Given the description of an element on the screen output the (x, y) to click on. 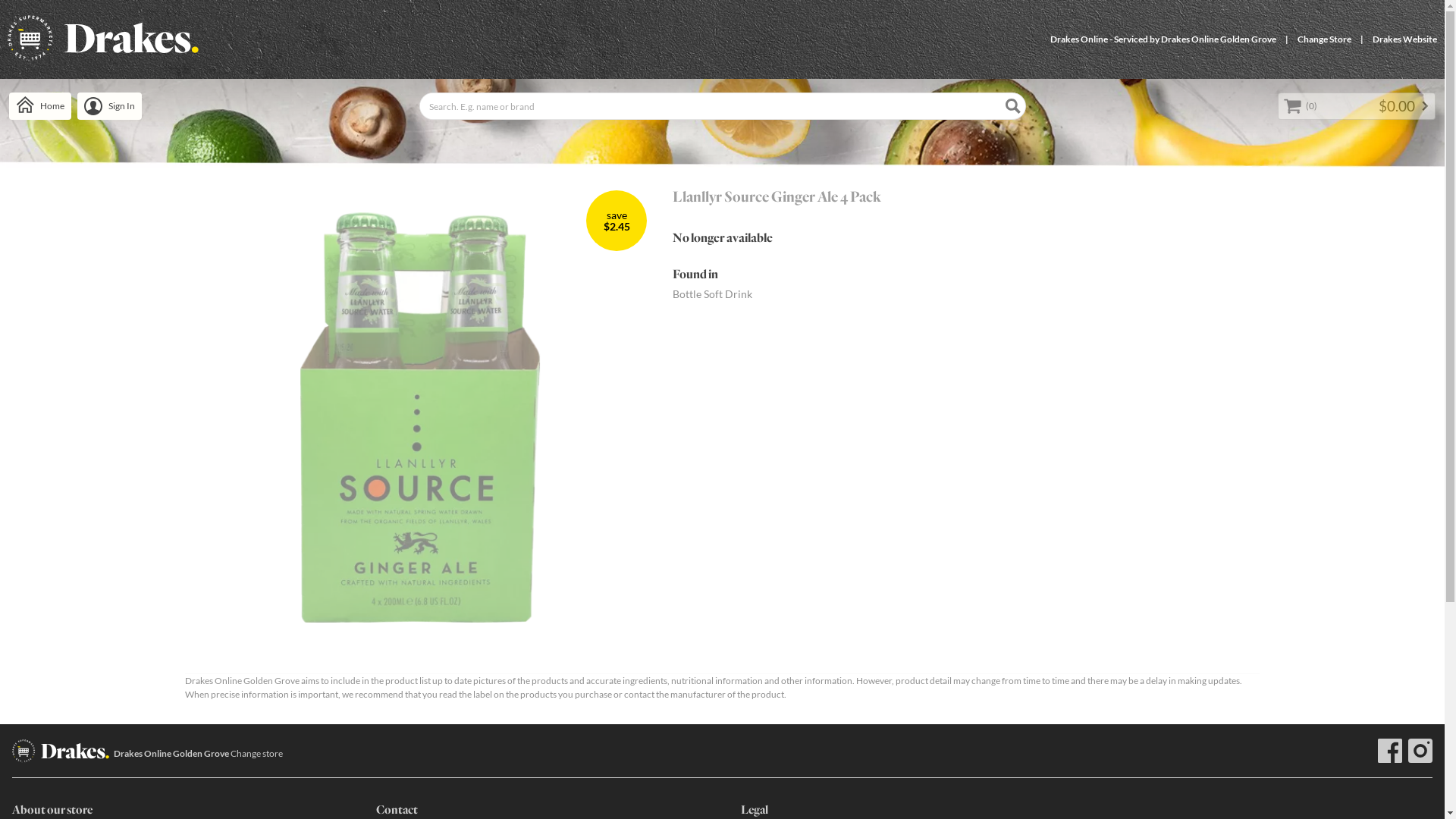
Bottle Soft Drink Element type: text (712, 293)
Drakes Website Element type: text (1404, 38)
Drakes Online Golden Grove Change store Element type: text (198, 753)
Instagram @drakessupermarkets Element type: hover (1420, 750)
Search Element type: hover (1013, 106)
(0)
$0.00 Element type: text (1356, 105)
Sign In Element type: text (109, 105)
Change Store Element type: text (1324, 38)
Home Element type: text (40, 105)
Facebook Element type: hover (1389, 750)
